Given the description of an element on the screen output the (x, y) to click on. 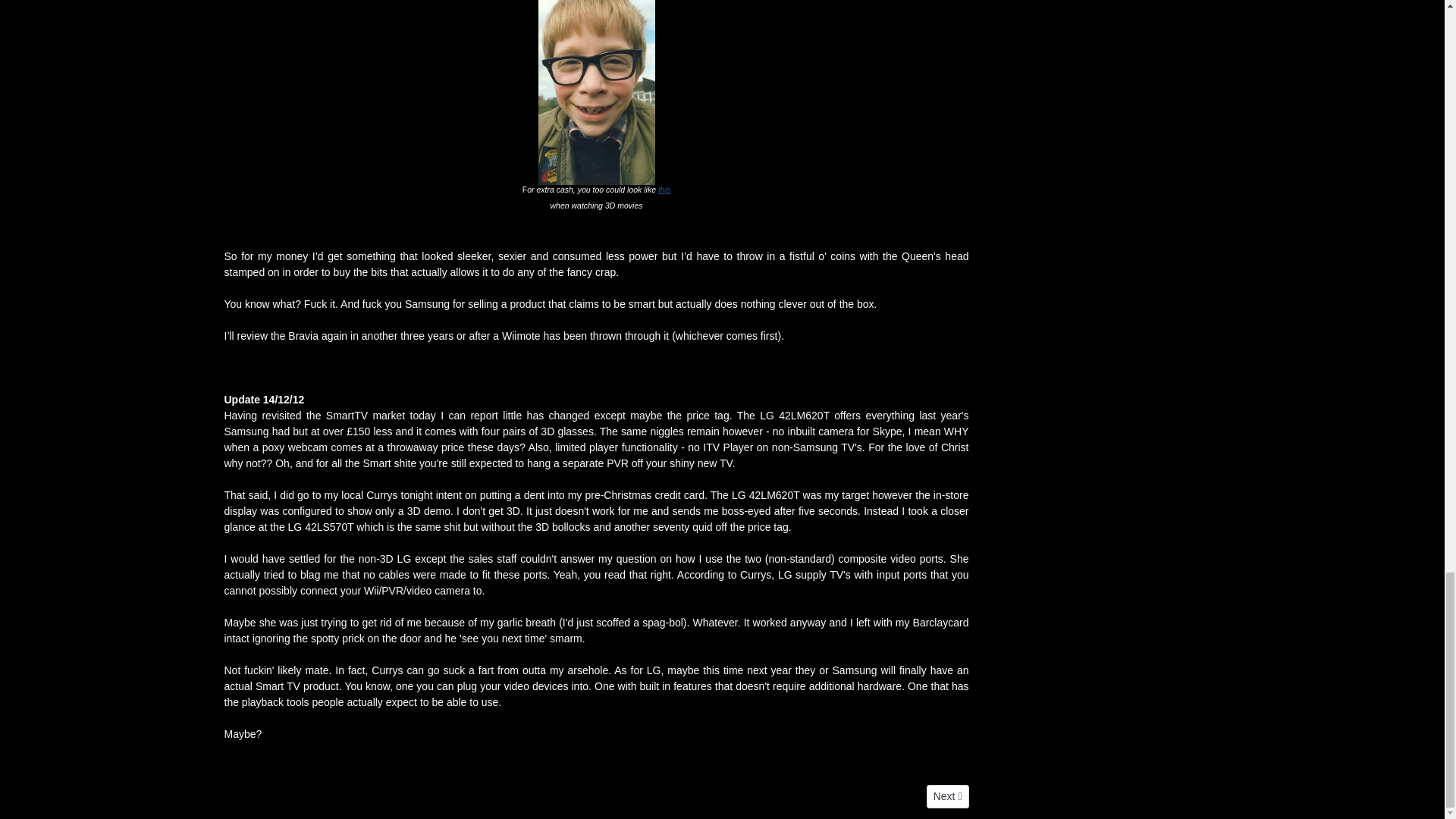
this (947, 796)
